Given the description of an element on the screen output the (x, y) to click on. 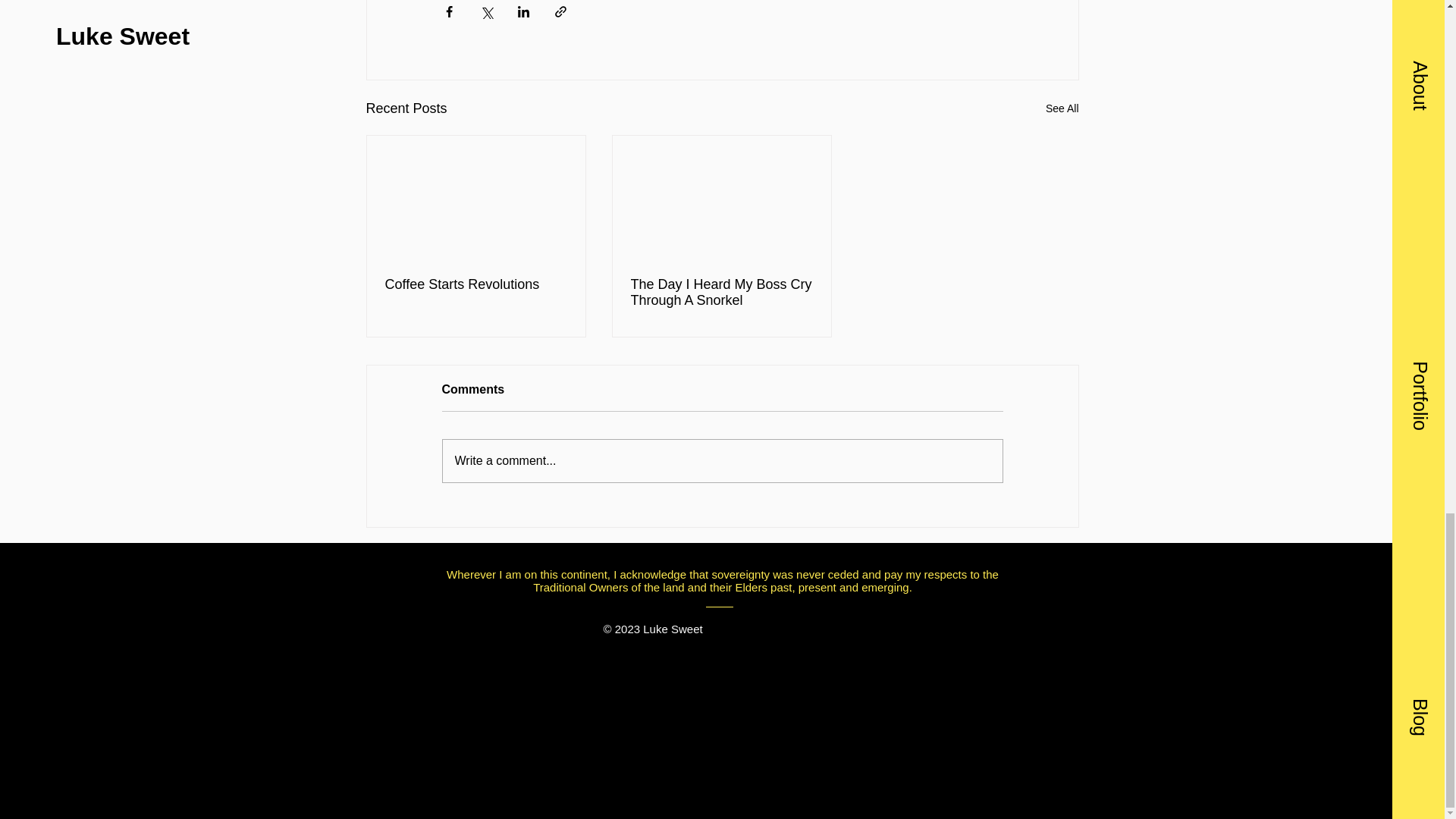
Coffee Starts Revolutions (476, 284)
The Day I Heard My Boss Cry Through A Snorkel (721, 292)
Write a comment... (722, 460)
See All (1061, 108)
